Given the description of an element on the screen output the (x, y) to click on. 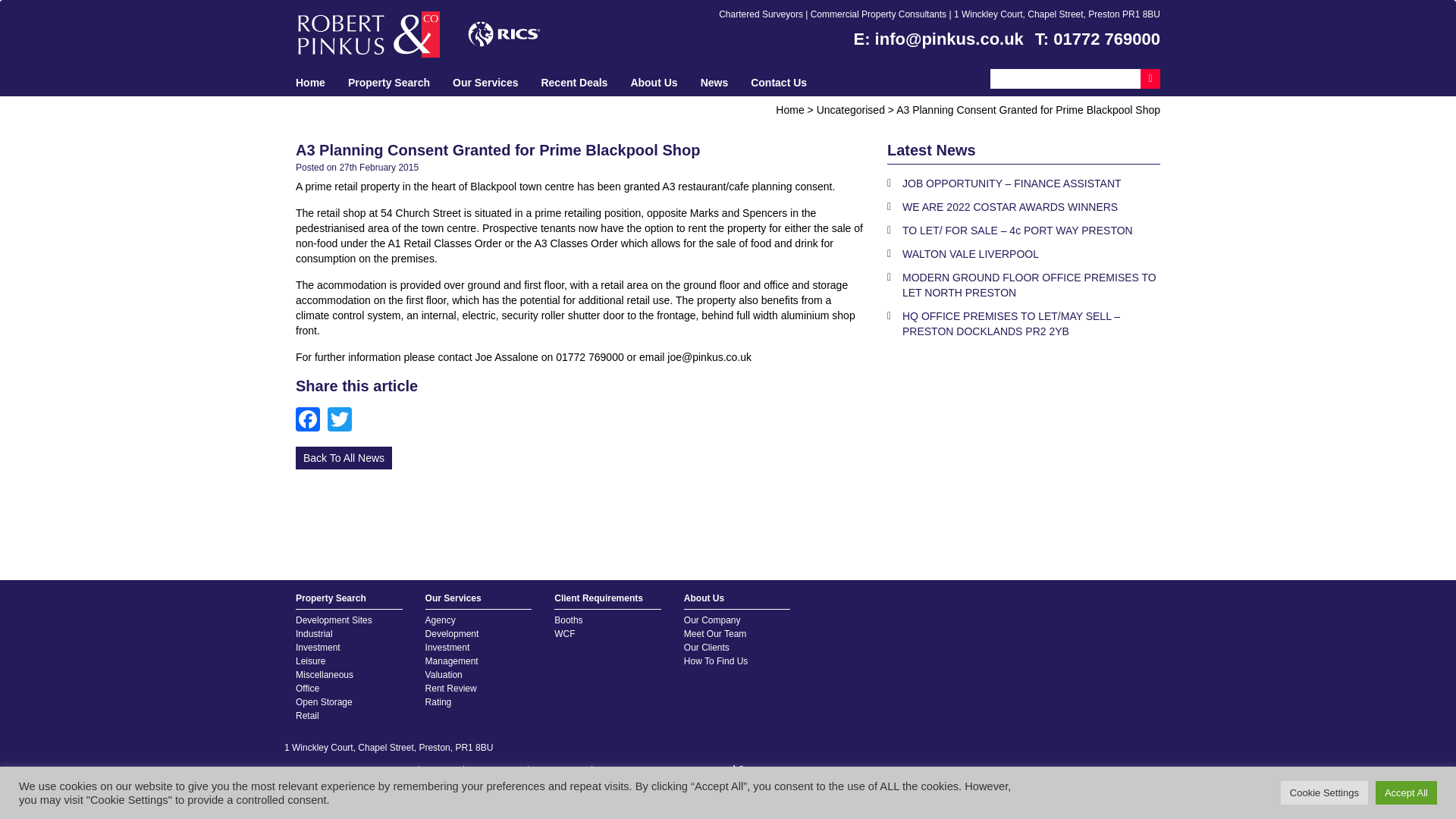
WE ARE 2022 COSTAR AWARDS WINNERS (1023, 208)
Development Sites (333, 620)
Facebook (311, 420)
News (714, 81)
About Us (653, 81)
Industrial (314, 633)
Facebook (311, 420)
Go to Pinkus. (789, 109)
Home (309, 81)
Twitter (343, 420)
Search for: (1065, 77)
Back To All News (343, 456)
Home (789, 109)
Uncategorised (850, 109)
Property Search (349, 600)
